Given the description of an element on the screen output the (x, y) to click on. 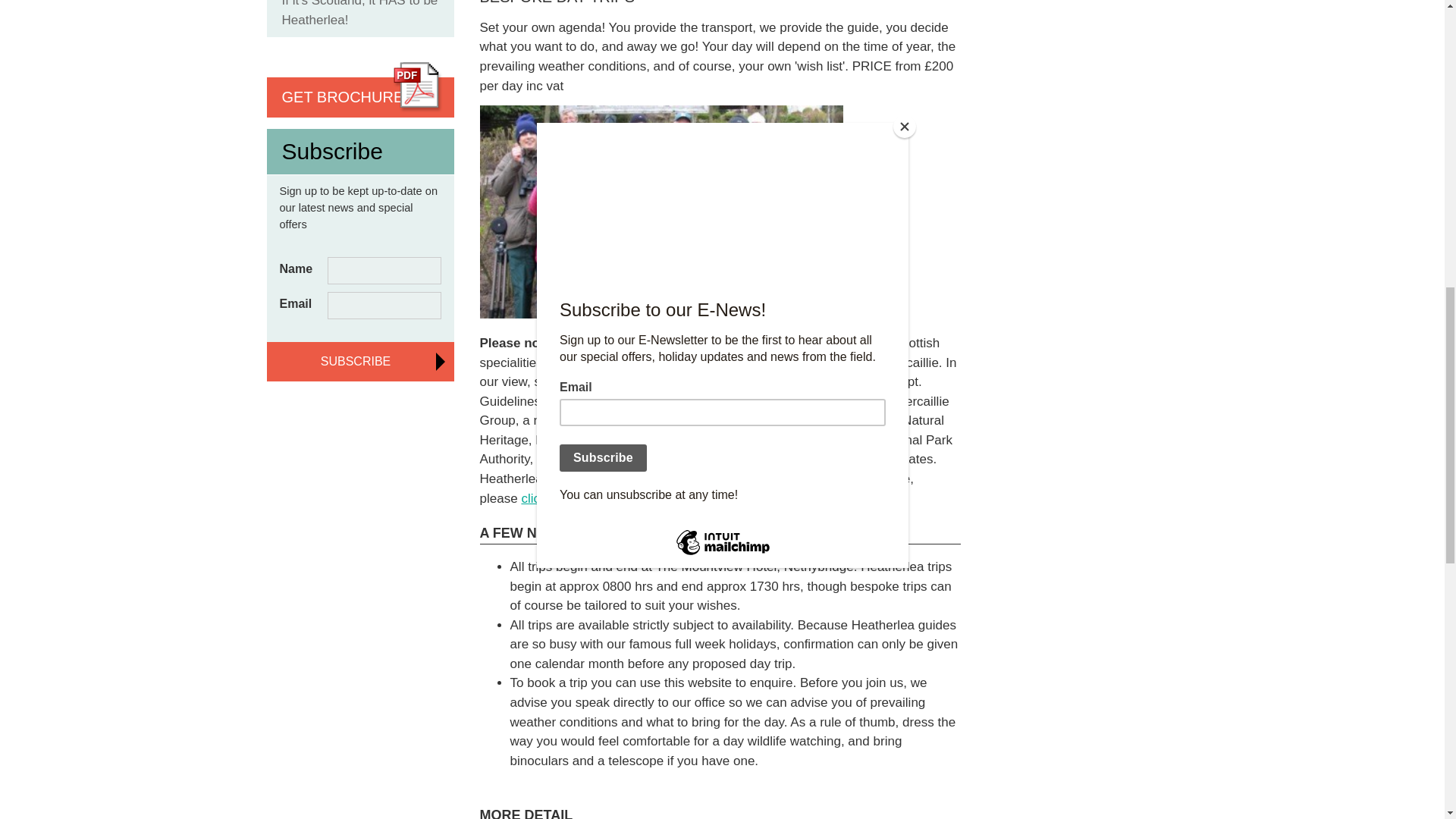
Please enter your Name (384, 270)
